Given the description of an element on the screen output the (x, y) to click on. 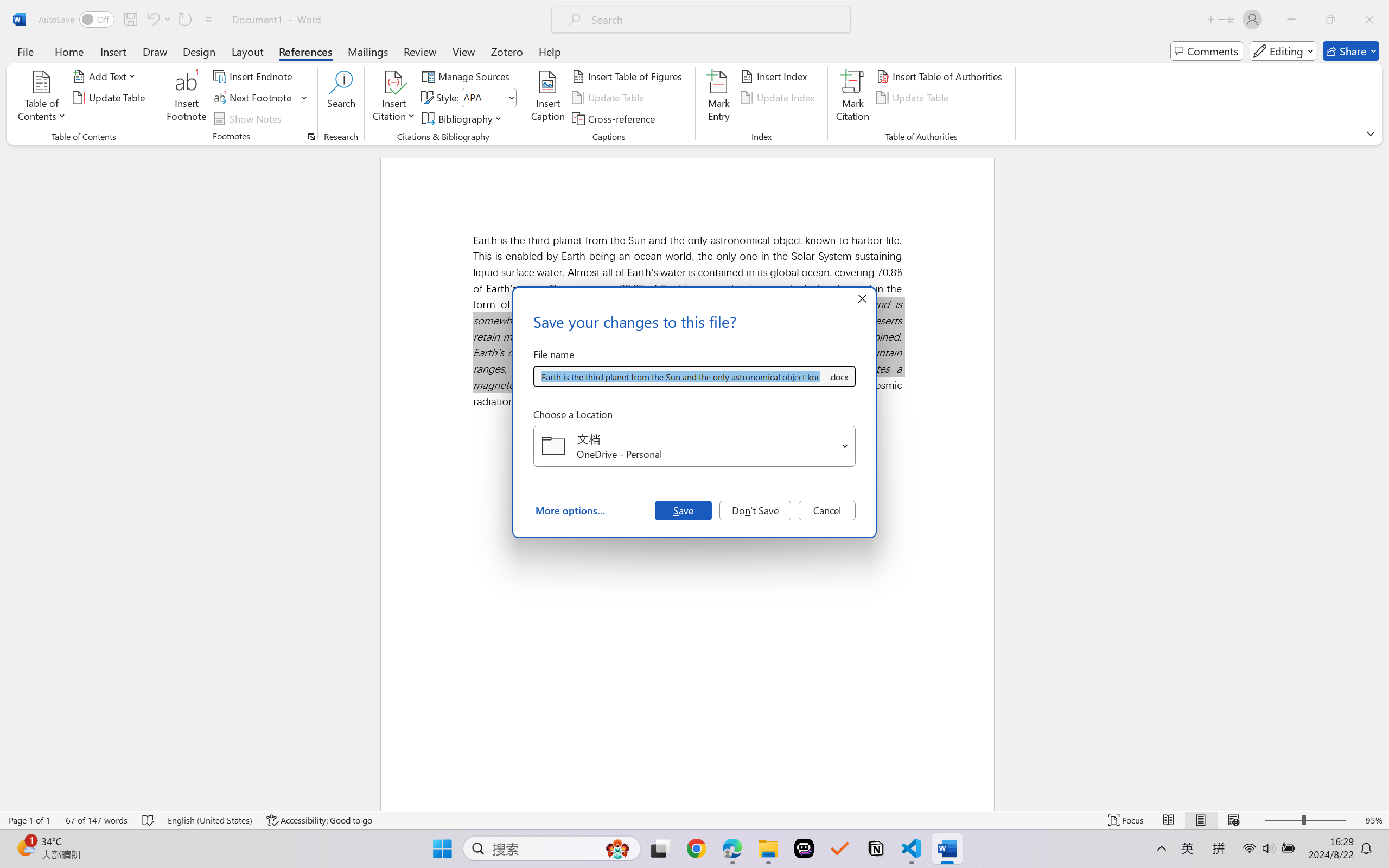
Cross-reference... (615, 118)
Cancel (826, 509)
Insert Footnote (186, 97)
Repeat Doc Close (184, 19)
Style (488, 97)
File name (680, 376)
